Given the description of an element on the screen output the (x, y) to click on. 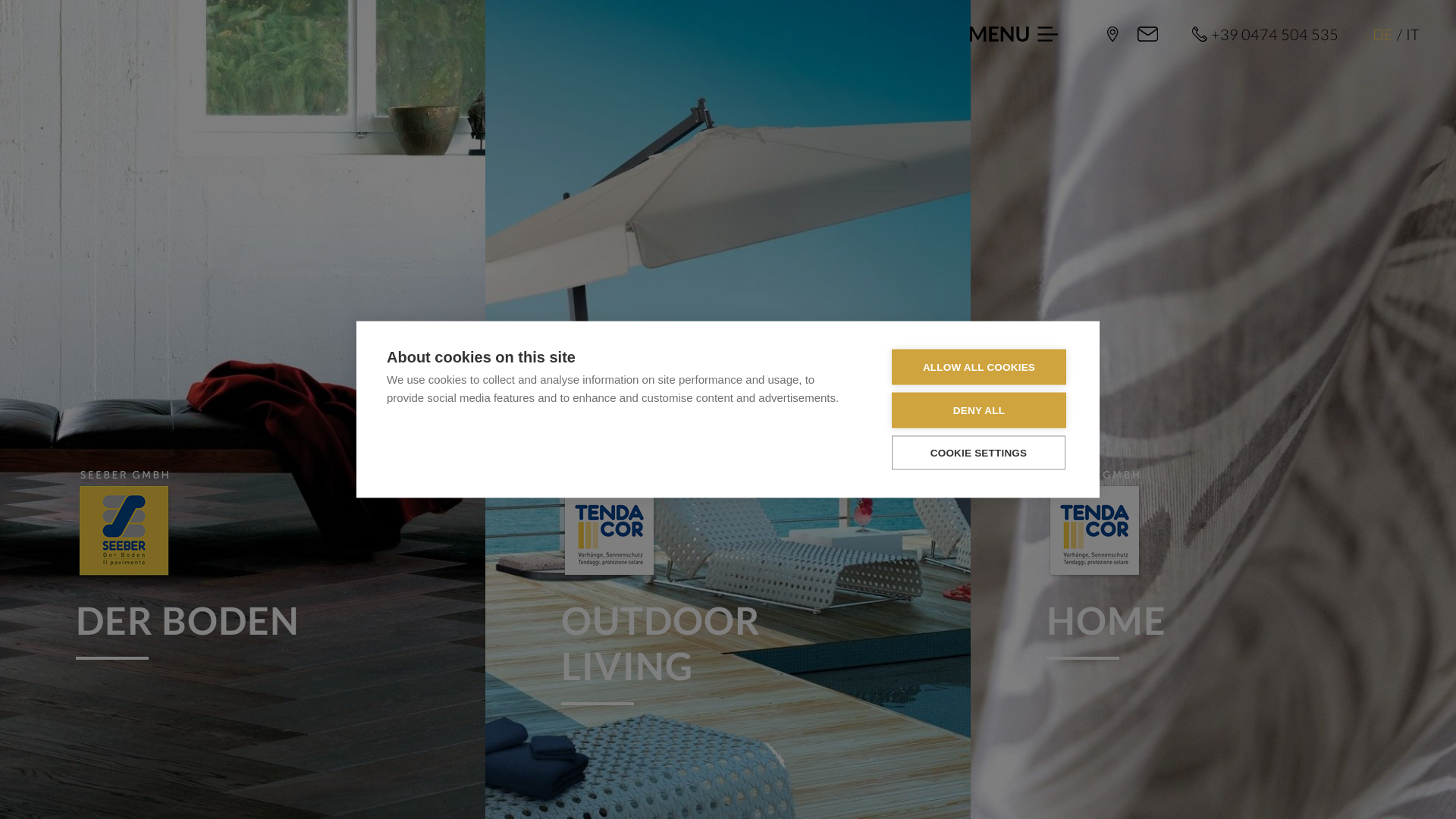
Folgen Sie uns auf Element type: text (1349, 765)
Home Element type: hover (1095, 525)
Der Boden Element type: hover (124, 525)
IT Element type: text (1412, 34)
+39 0474 504 535 Element type: text (1265, 33)
OUTDOOR LIVING Element type: text (727, 587)
DE Element type: text (1382, 34)
COOKIE SETTINGS Element type: text (978, 452)
HOME Element type: text (1213, 564)
ALLOW ALL COOKIES Element type: text (978, 366)
Outdoor Living Element type: hover (610, 525)
DENY ALL Element type: text (978, 410)
DER BODEN Element type: text (242, 564)
Seeber Element type: hover (1112, 33)
info@seeber.bz Element type: hover (1147, 33)
